Given the description of an element on the screen output the (x, y) to click on. 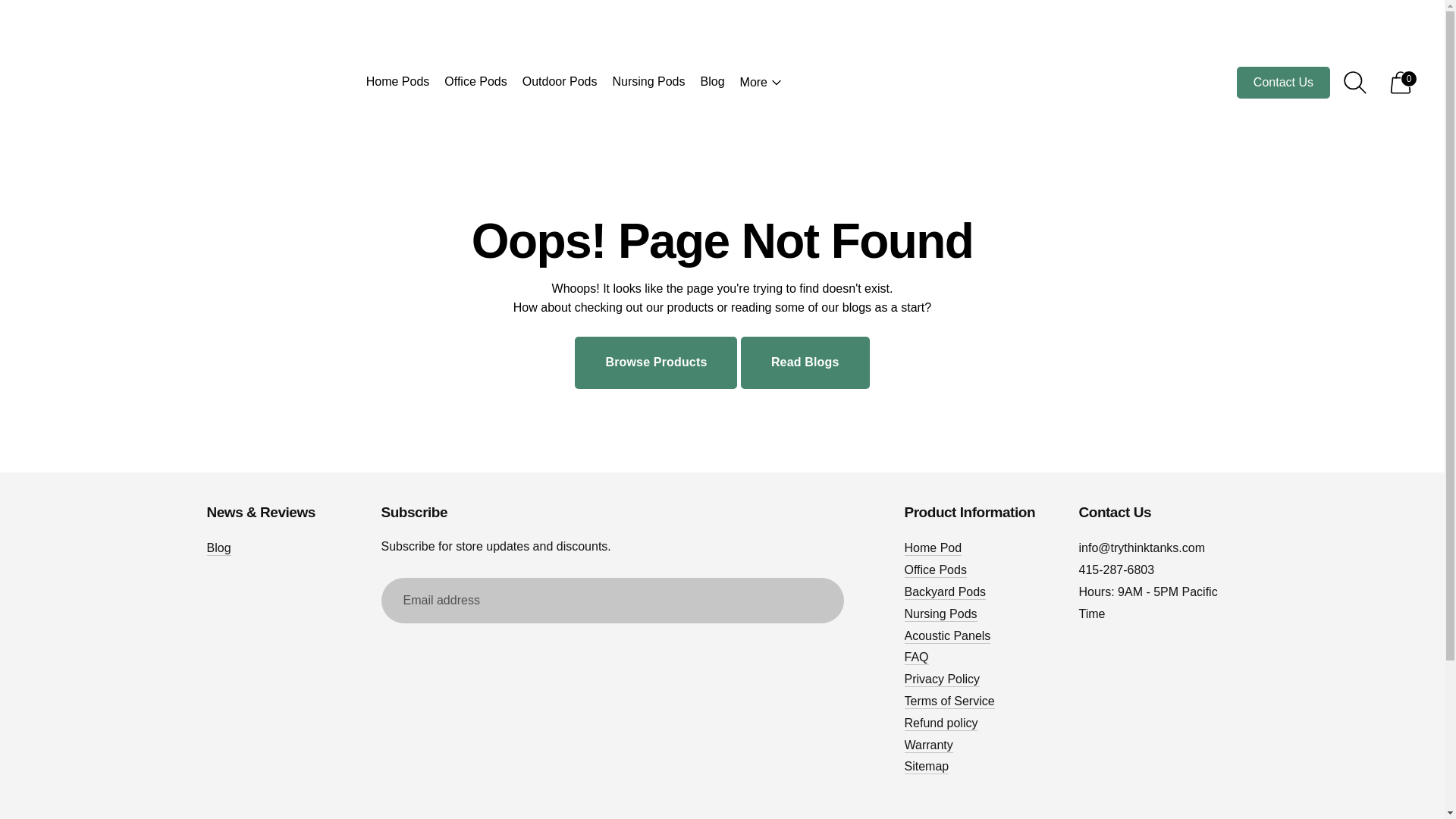
More (761, 82)
Contact Us (1283, 82)
Office Pods (475, 82)
Nursing Pods (647, 82)
0 (1400, 82)
Home Pods (397, 82)
Outdoor Pods (559, 82)
